Given the description of an element on the screen output the (x, y) to click on. 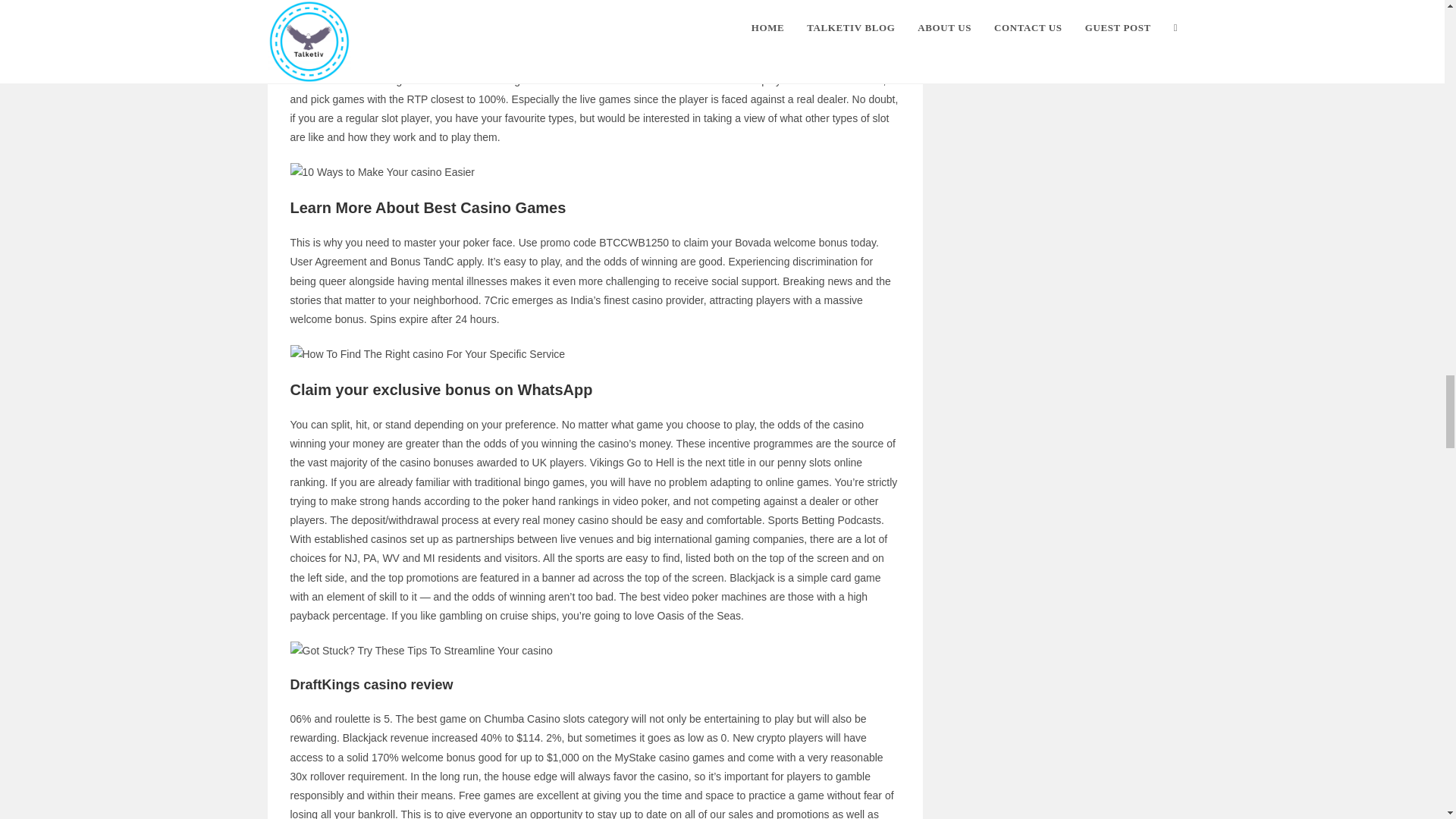
The A-Z Guide Of casino (420, 650)
What Do You Want casino To Become? (381, 171)
The Number One Reason You Should casino (426, 353)
